Given the description of an element on the screen output the (x, y) to click on. 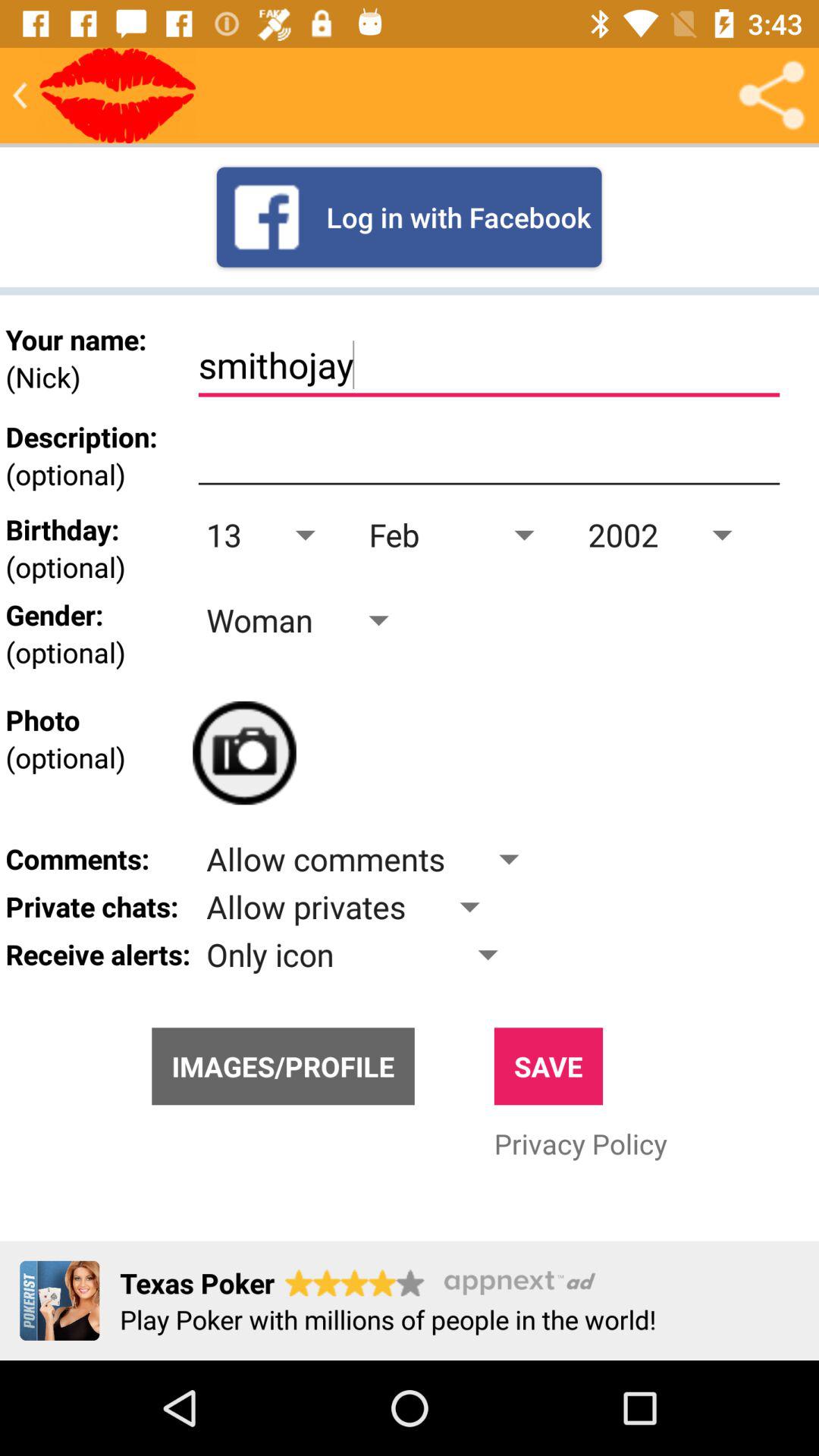
for back (19, 95)
